Given the description of an element on the screen output the (x, y) to click on. 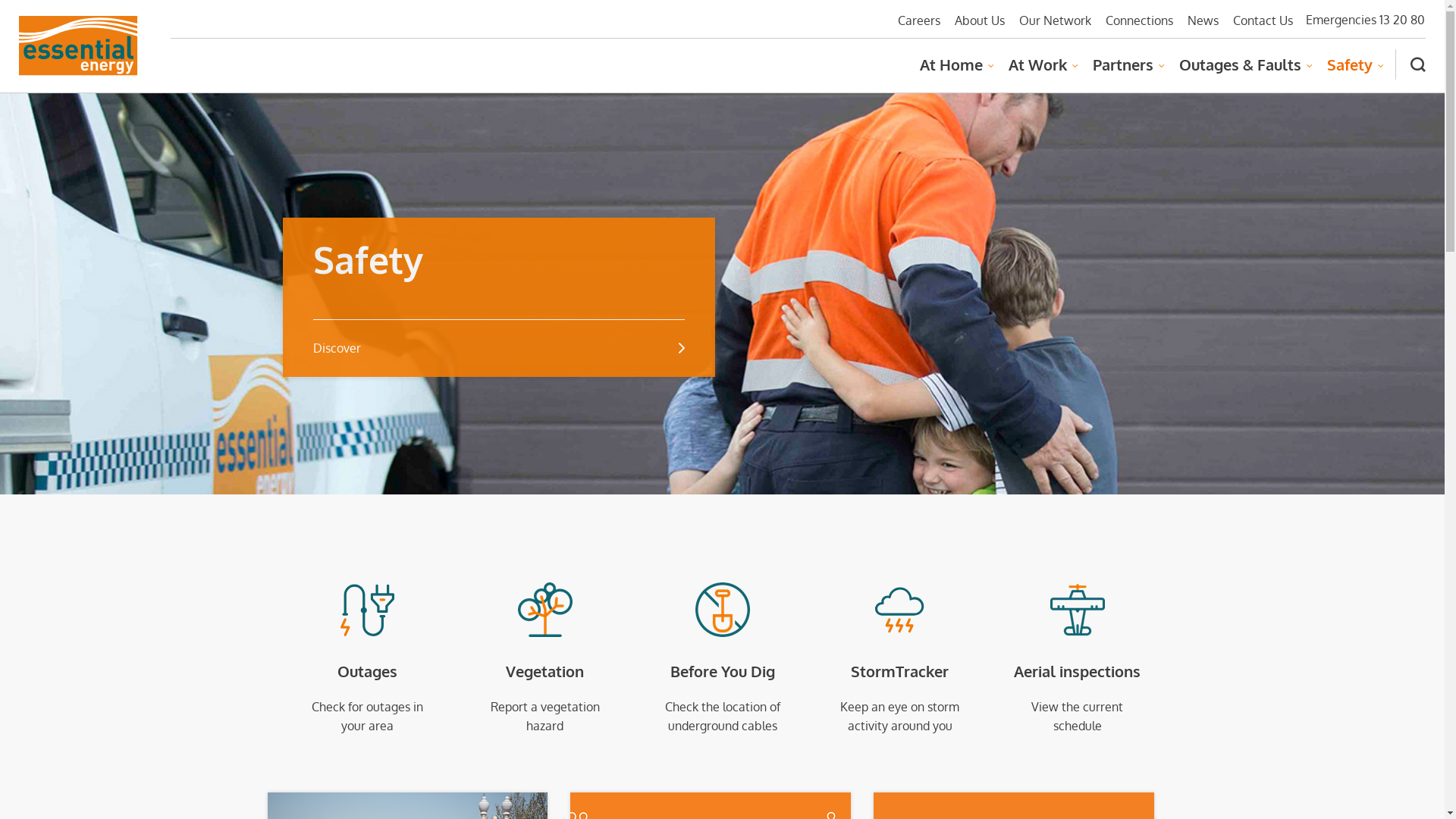
At Work Element type: text (1037, 72)
Contact Us Element type: text (1258, 20)
Careers Element type: text (915, 20)
Safety Element type: text (1349, 72)
News Element type: text (1198, 20)
At Home Element type: text (951, 72)
Aerial inspections
View the current schedule Element type: text (1077, 658)
Before You Dig
Check the location of underground cables Element type: text (722, 658)
Vegetation
Report a vegetation hazard Element type: text (544, 658)
Safety
Discover Element type: text (498, 296)
Partners Element type: text (1122, 72)
StormTracker
Keep an eye on storm activity around you Element type: text (899, 658)
Emergencies 13 20 80 Element type: text (1365, 19)
Image 1 Element type: hover (78, 47)
Our Network Element type: text (1051, 20)
Essential Energy Element type: hover (78, 45)
About Us Element type: text (975, 20)
Connections Element type: text (1135, 20)
search Element type: text (1410, 64)
Outages & Faults Element type: text (1239, 72)
Outages
Check for outages in your area Element type: text (367, 658)
